Given the description of an element on the screen output the (x, y) to click on. 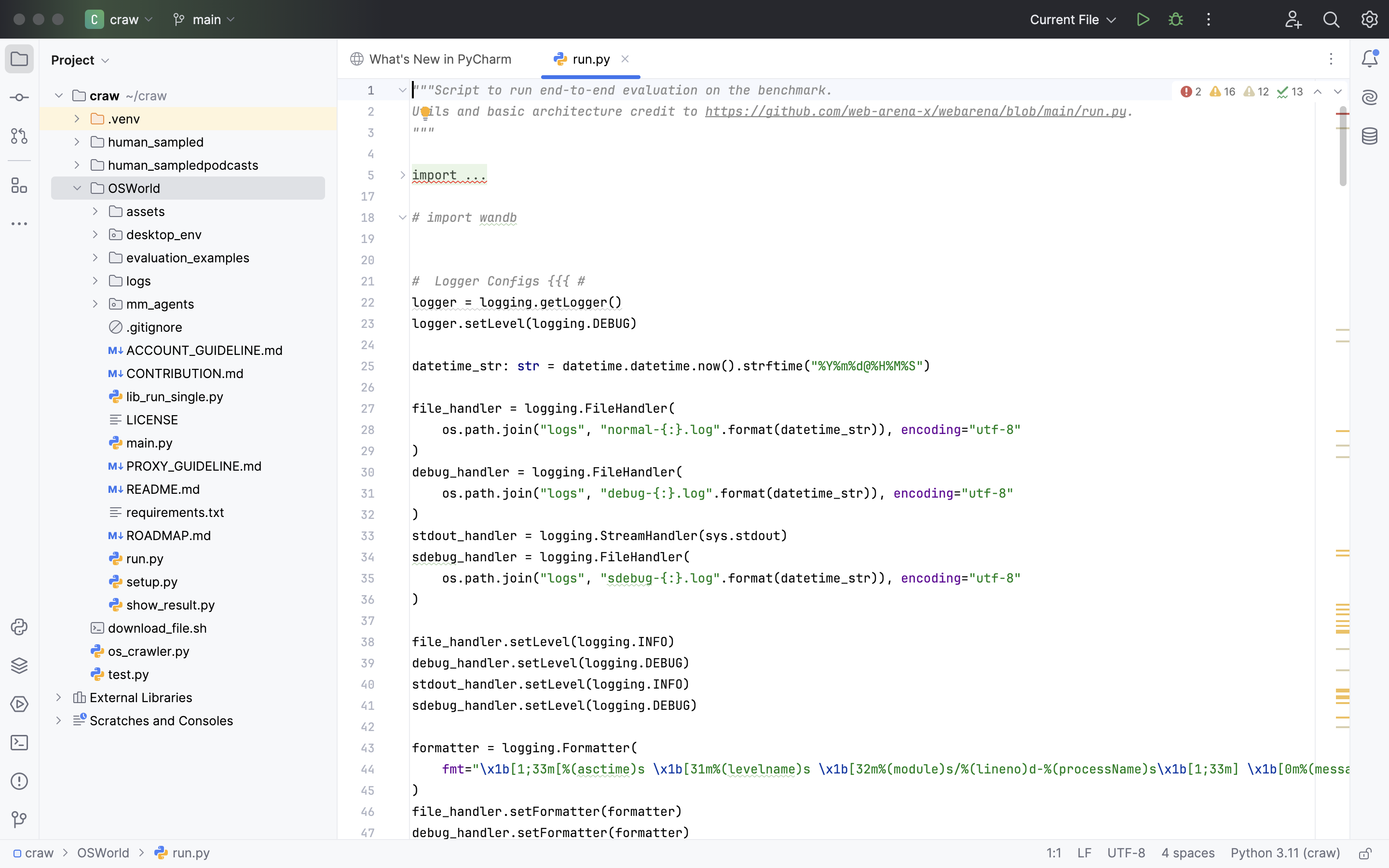
OSWorld Element type: AXStaticText (125, 187)
ACCOUNT_GUIDELINE.md Element type: AXStaticText (196, 349)
main.py Element type: AXStaticText (141, 442)
0 Element type: AXGroup (159, 19)
craw – run.py Element type: AXStaticText (694, 12)
